Given the description of an element on the screen output the (x, y) to click on. 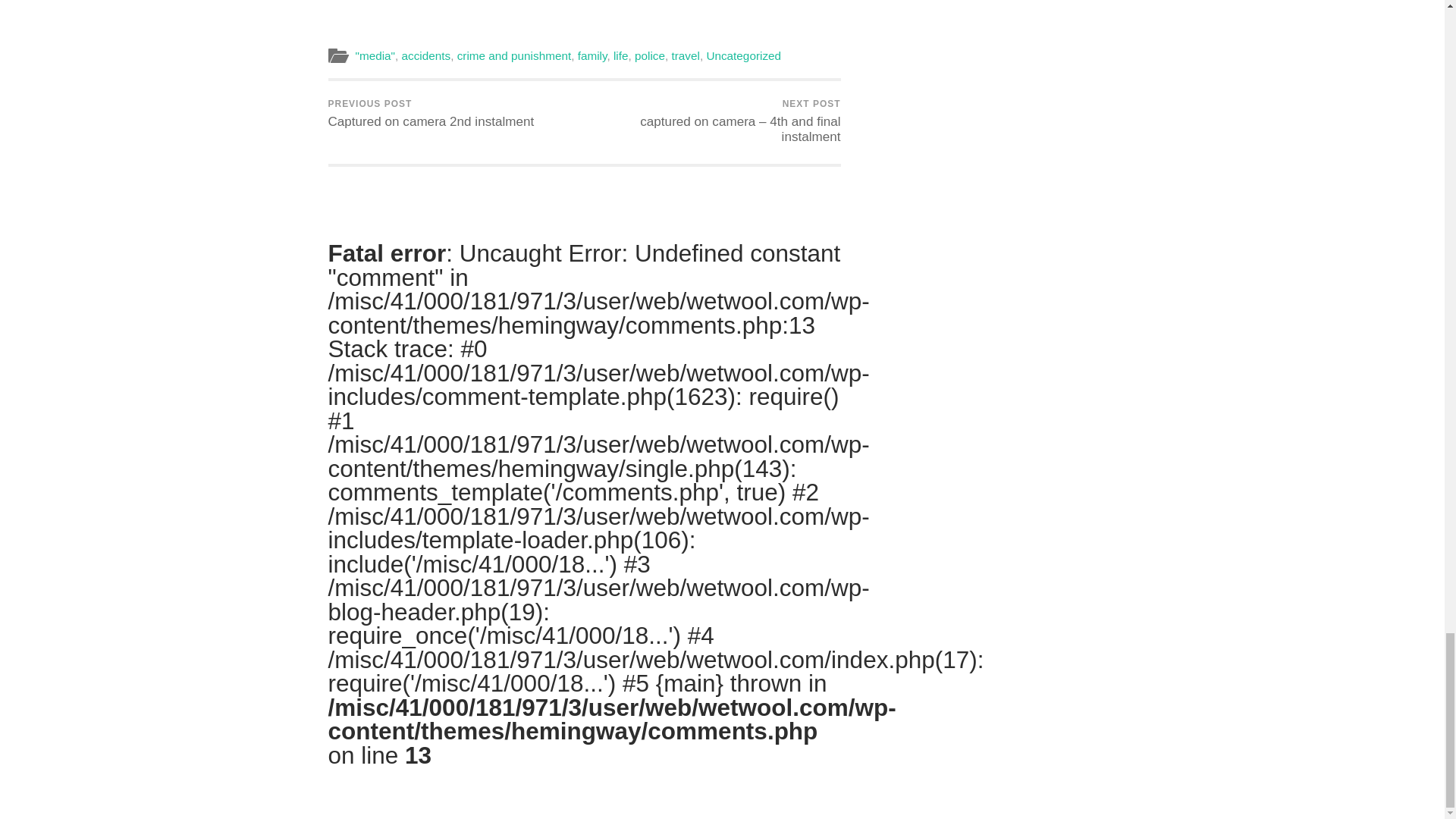
"media" (374, 55)
travel (685, 55)
Uncategorized (743, 55)
police (649, 55)
Previous post: Captured on camera 2nd instalment (430, 114)
life (430, 114)
accidents (620, 55)
family (426, 55)
crime and punishment (592, 55)
